Given the description of an element on the screen output the (x, y) to click on. 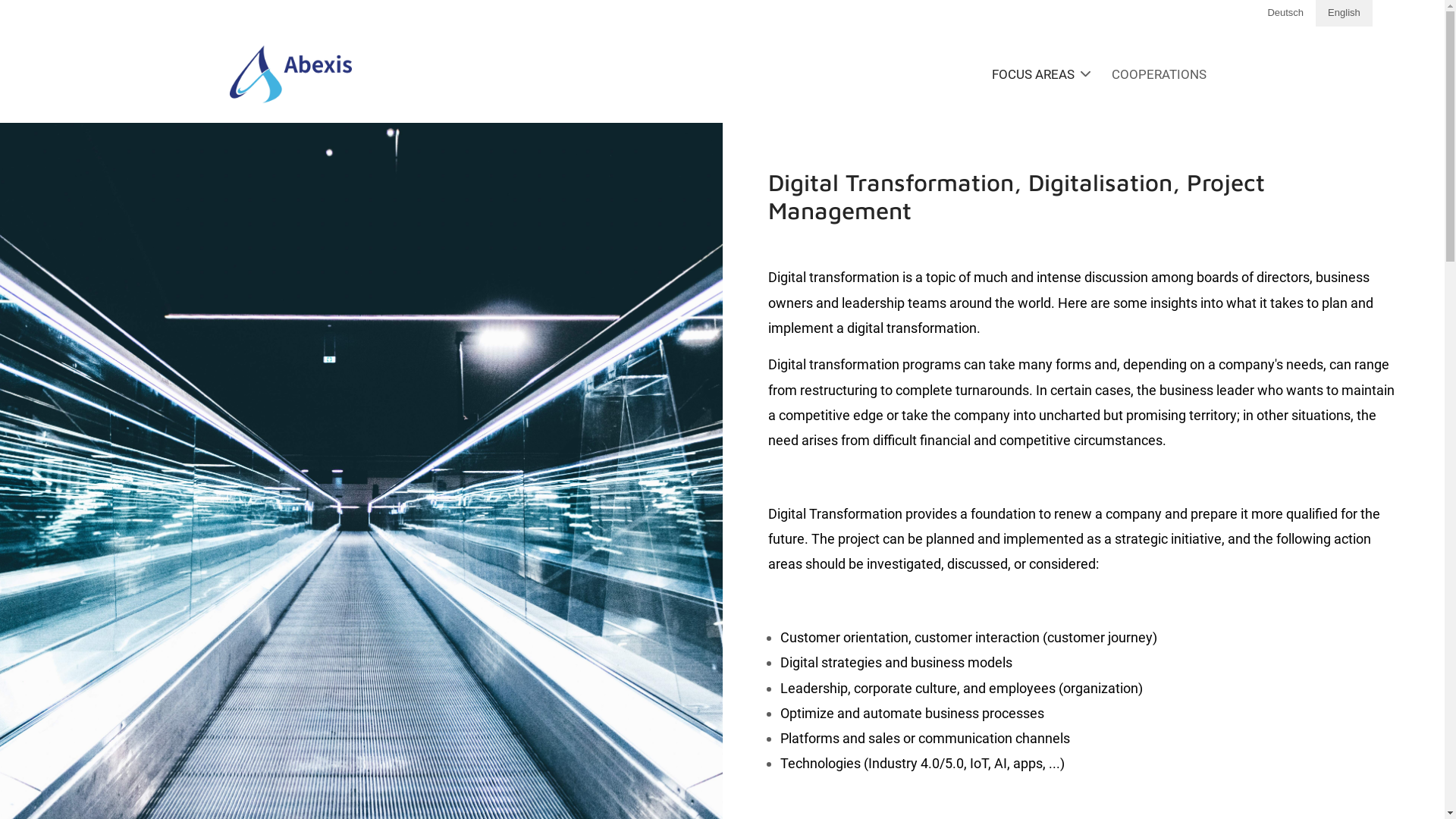
COOPERATIONS Element type: text (1158, 74)
English Element type: text (1343, 13)
Deutsch Element type: text (1285, 13)
